Given the description of an element on the screen output the (x, y) to click on. 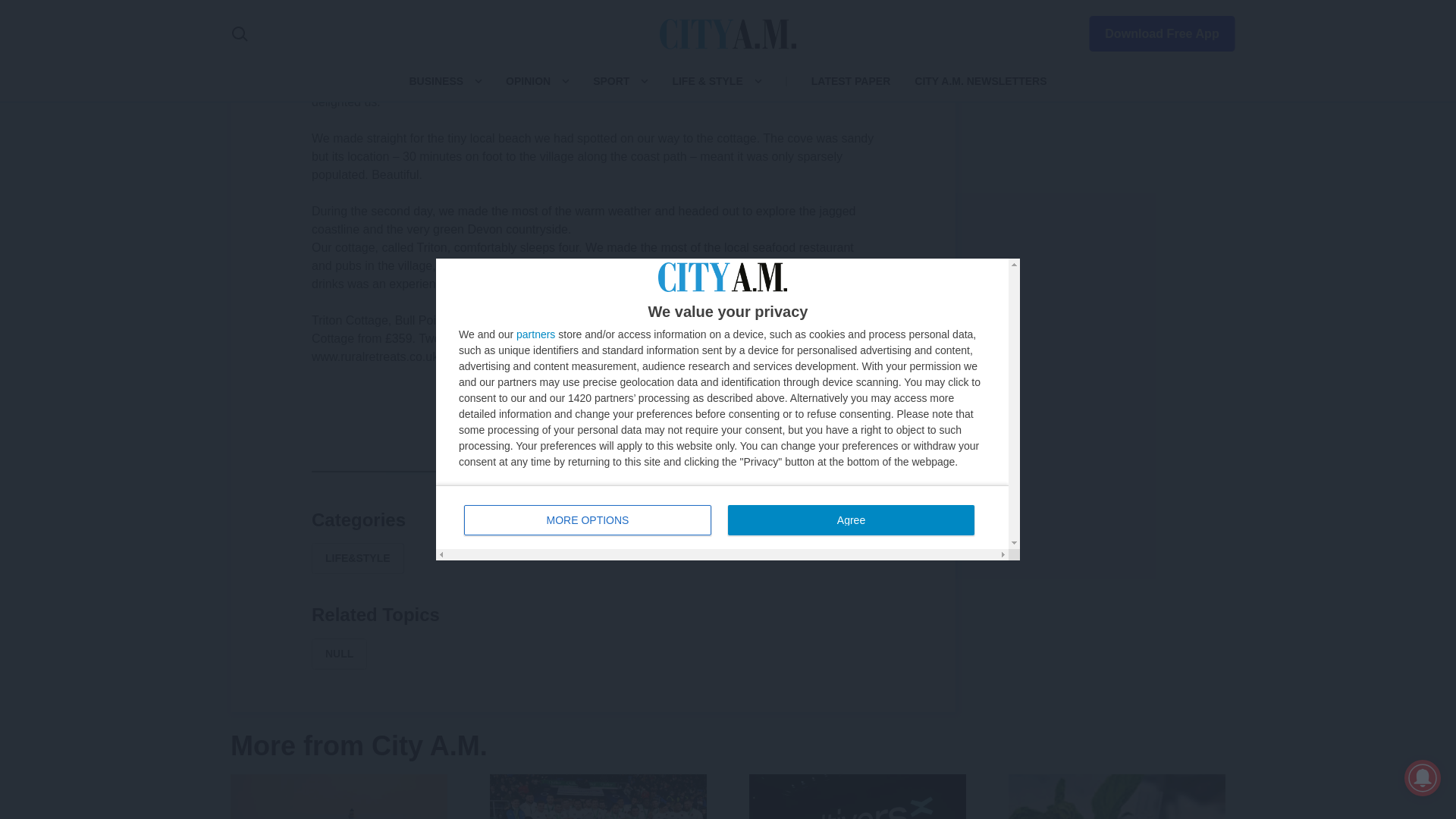
Email (665, 470)
X (556, 470)
WhatsApp (629, 470)
Facebook (520, 470)
LinkedIn (592, 470)
